Given the description of an element on the screen output the (x, y) to click on. 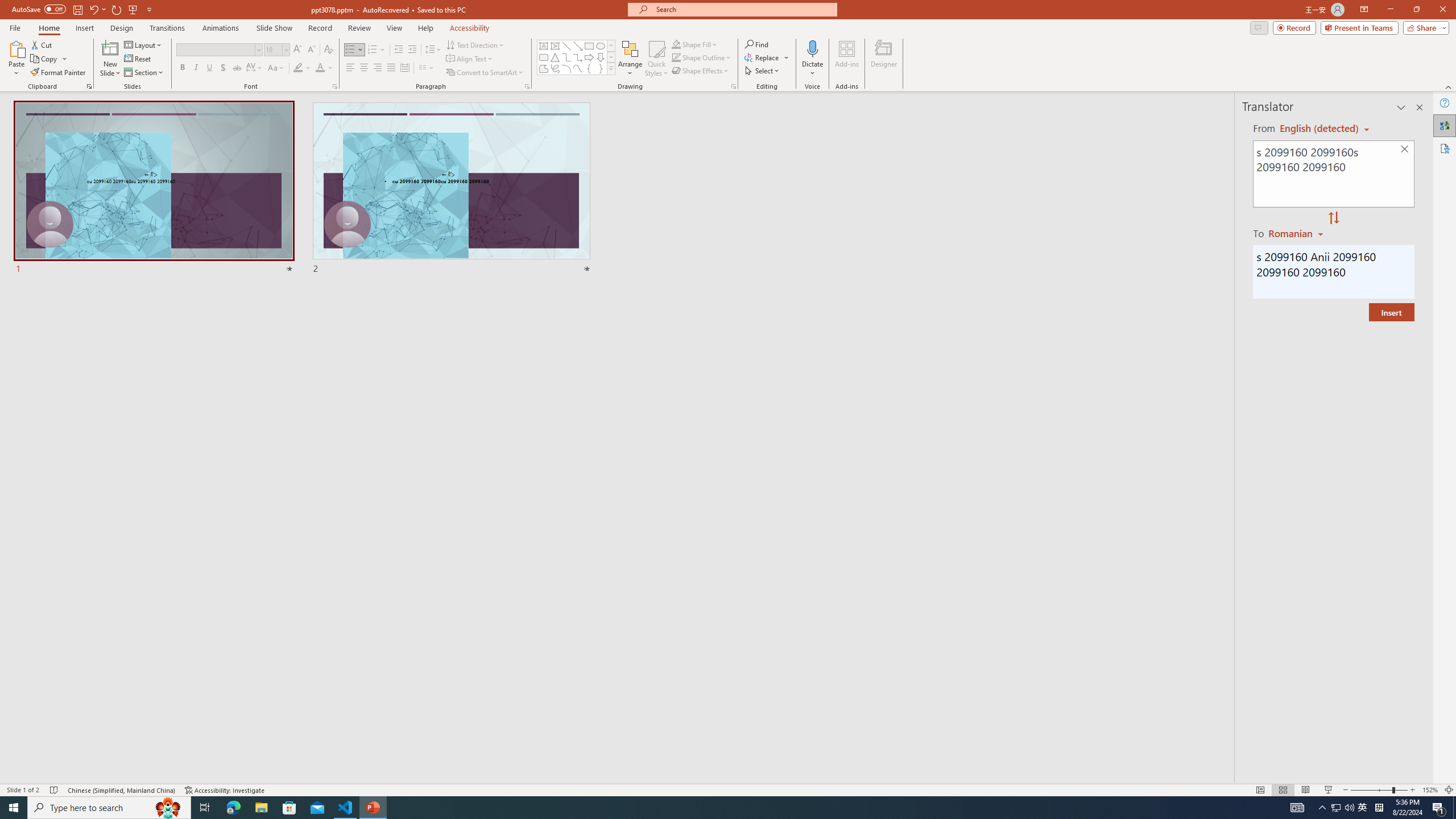
Strikethrough (237, 67)
Shape Outline Green, Accent 1 (675, 56)
Paragraph... (526, 85)
Clear Formatting (327, 49)
Decrease Font Size (310, 49)
Czech (detected) (1319, 128)
Section (144, 72)
Office Clipboard... (88, 85)
Shape Effects (700, 69)
Align Left (349, 67)
Clear text (1404, 149)
Swap "from" and "to" languages. (1333, 218)
